Given the description of an element on the screen output the (x, y) to click on. 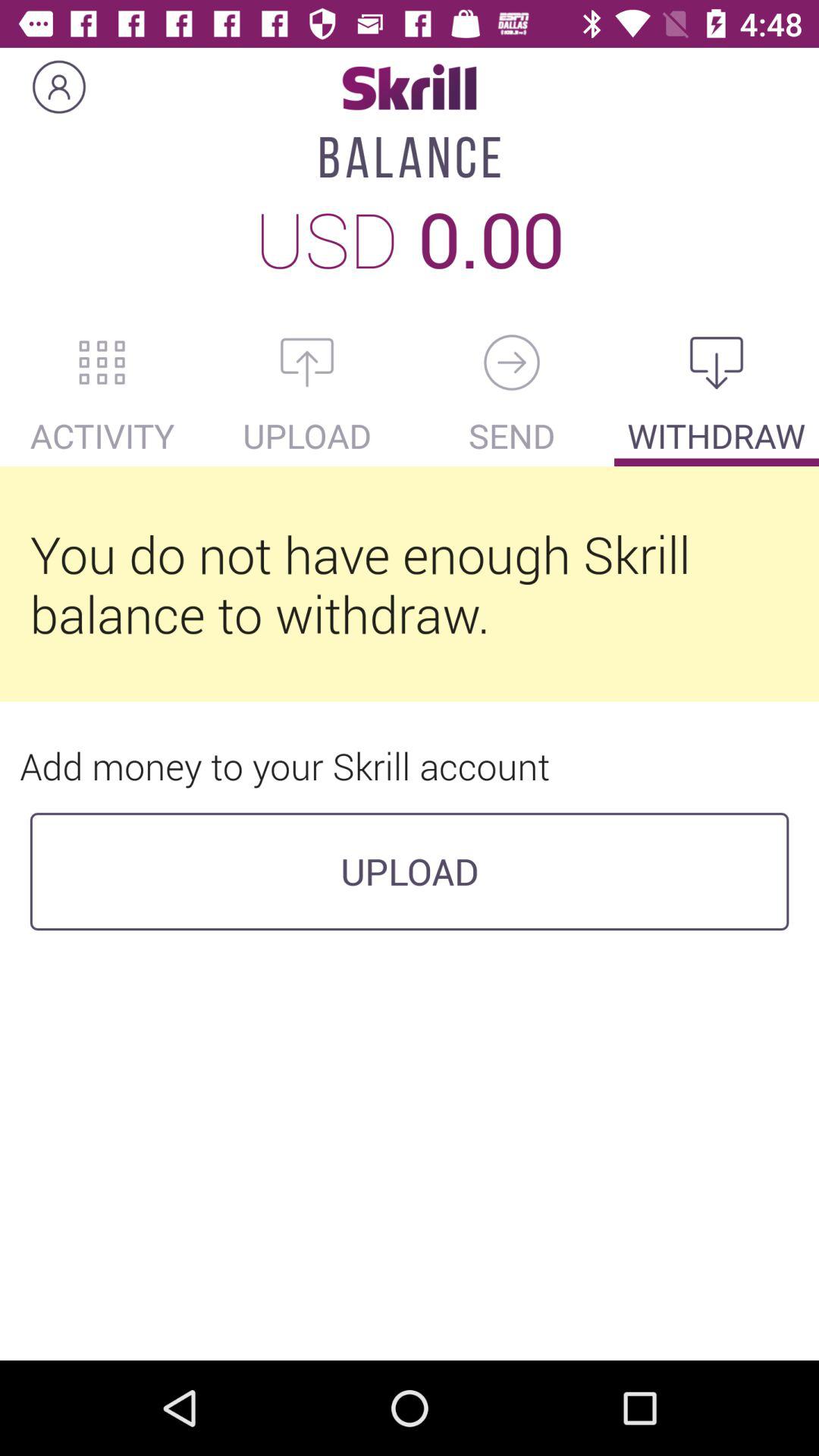
withdraw (716, 362)
